Given the description of an element on the screen output the (x, y) to click on. 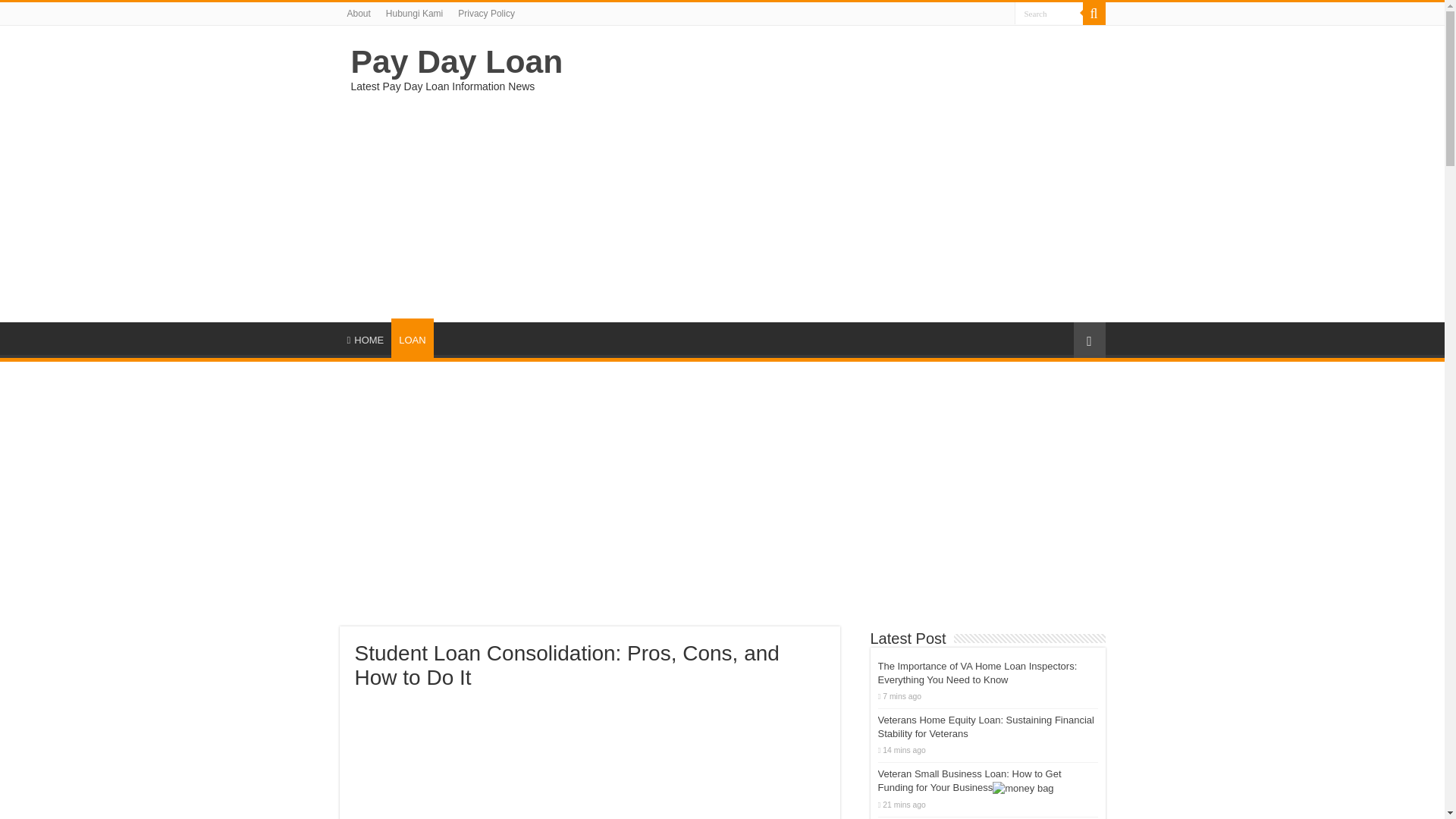
Privacy Policy (485, 13)
LOAN (411, 337)
Search (1048, 13)
Search (1048, 13)
Random Article (1089, 339)
About (358, 13)
Pay Day Loan (456, 61)
Hubungi Kami (413, 13)
Search (1094, 13)
Search (1048, 13)
HOME (365, 337)
